Given the description of an element on the screen output the (x, y) to click on. 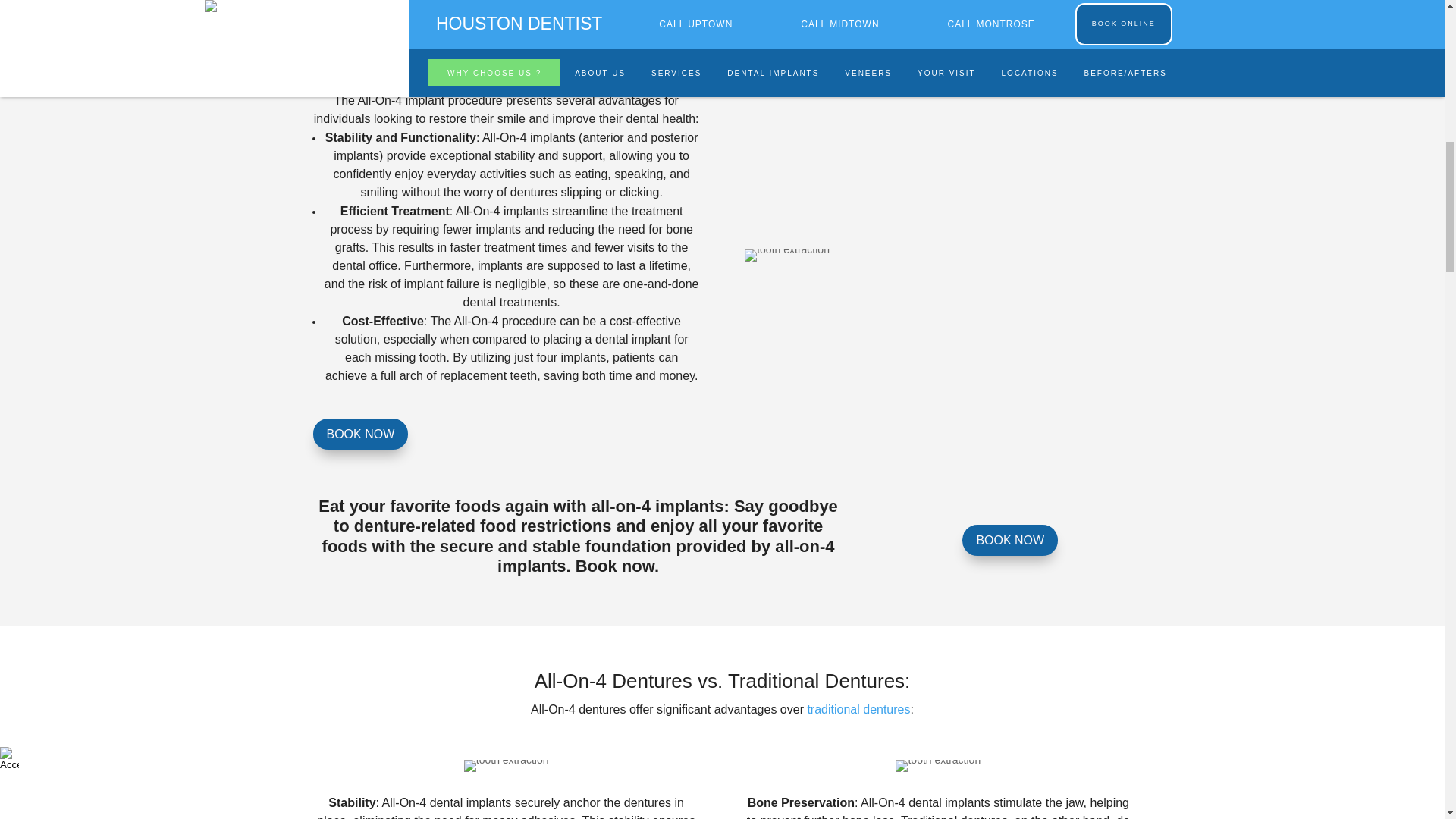
all in 4 dental implants near me (506, 766)
dental-implants (786, 255)
all in four dental implants (937, 766)
